Given the description of an element on the screen output the (x, y) to click on. 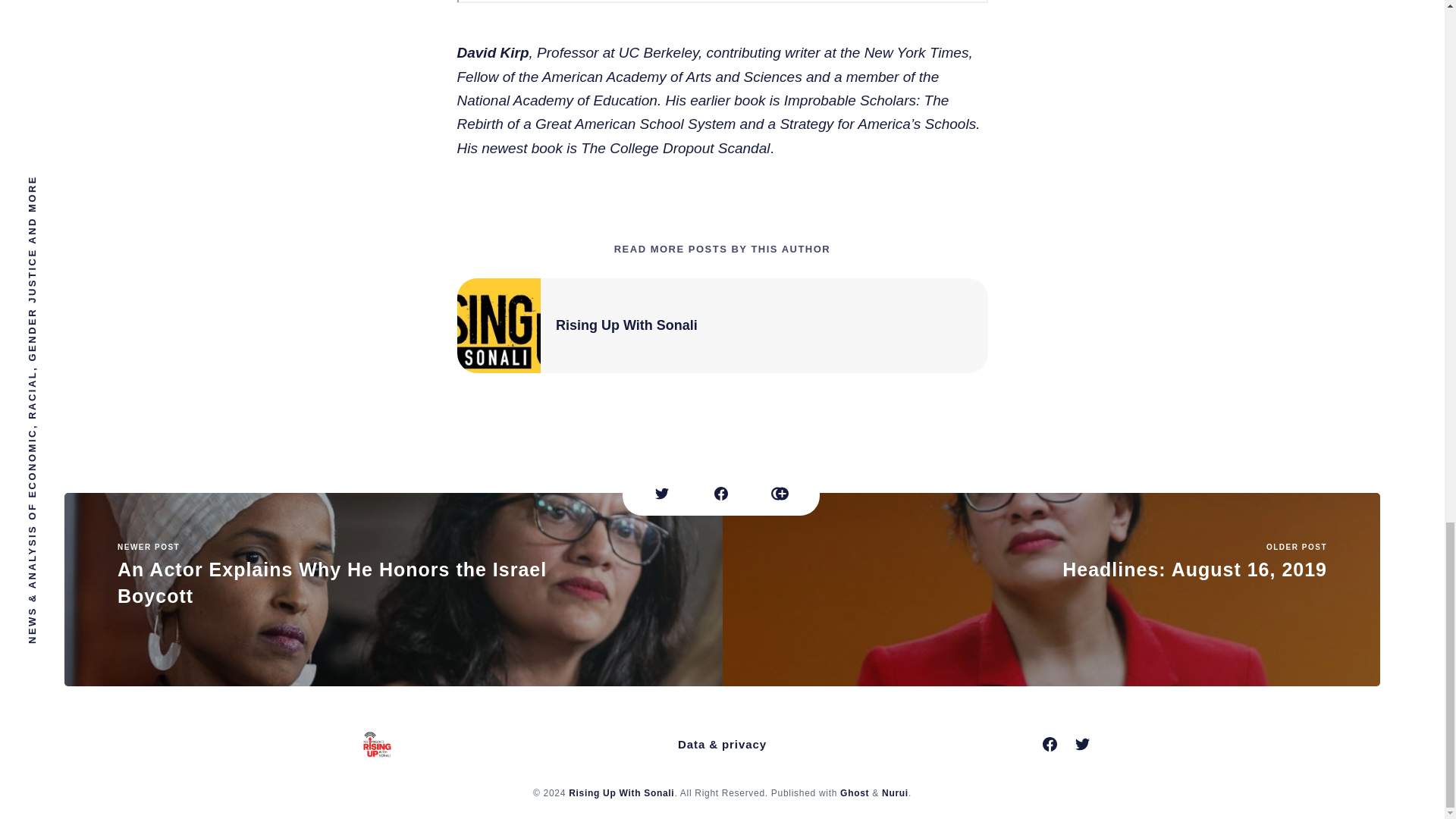
Rising Up With Sonali (621, 792)
Nurui (895, 792)
Rising Up With Sonali (1051, 589)
Ghost (625, 324)
